Given the description of an element on the screen output the (x, y) to click on. 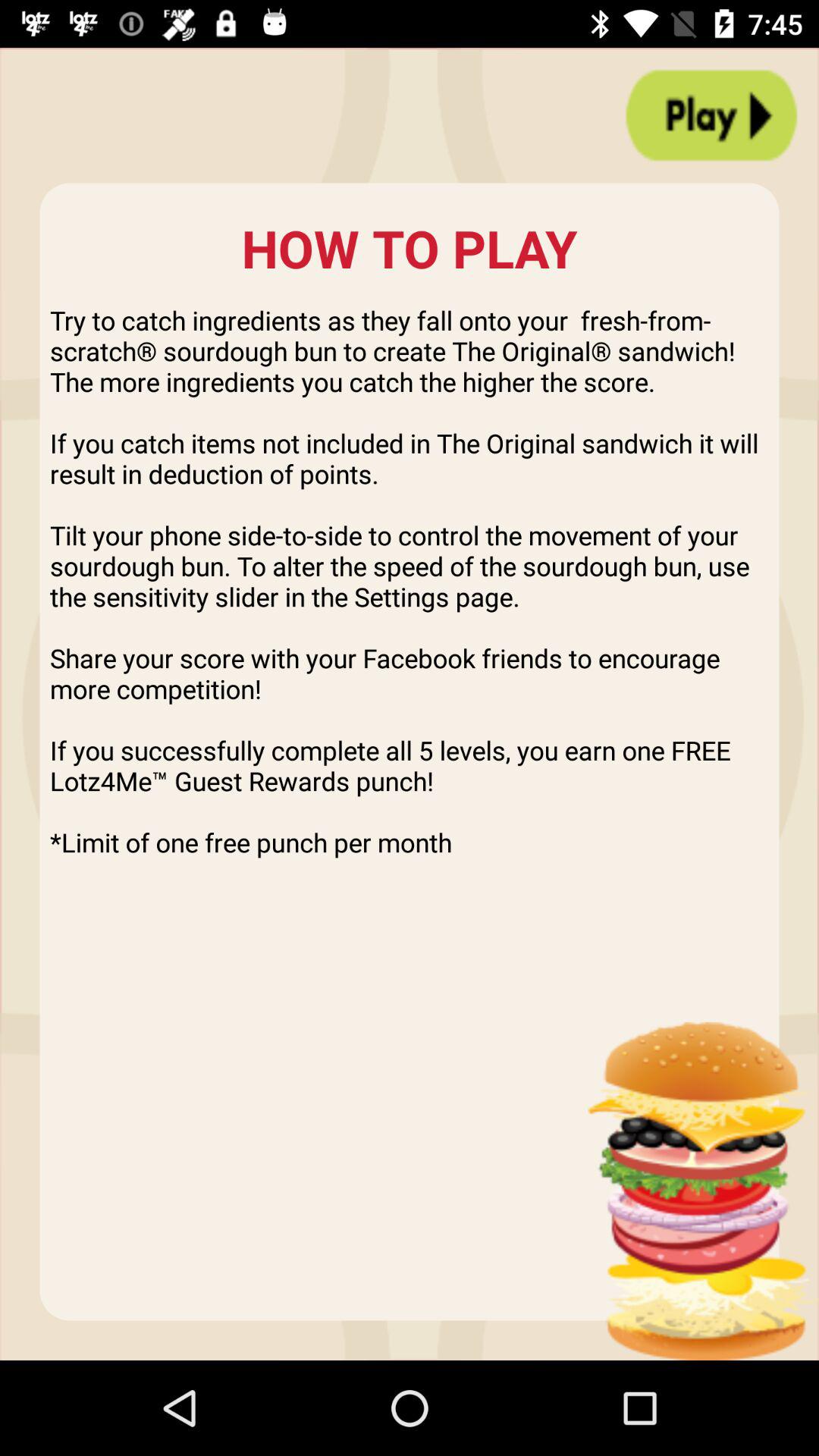
turn off icon above the try to catch icon (711, 115)
